Given the description of an element on the screen output the (x, y) to click on. 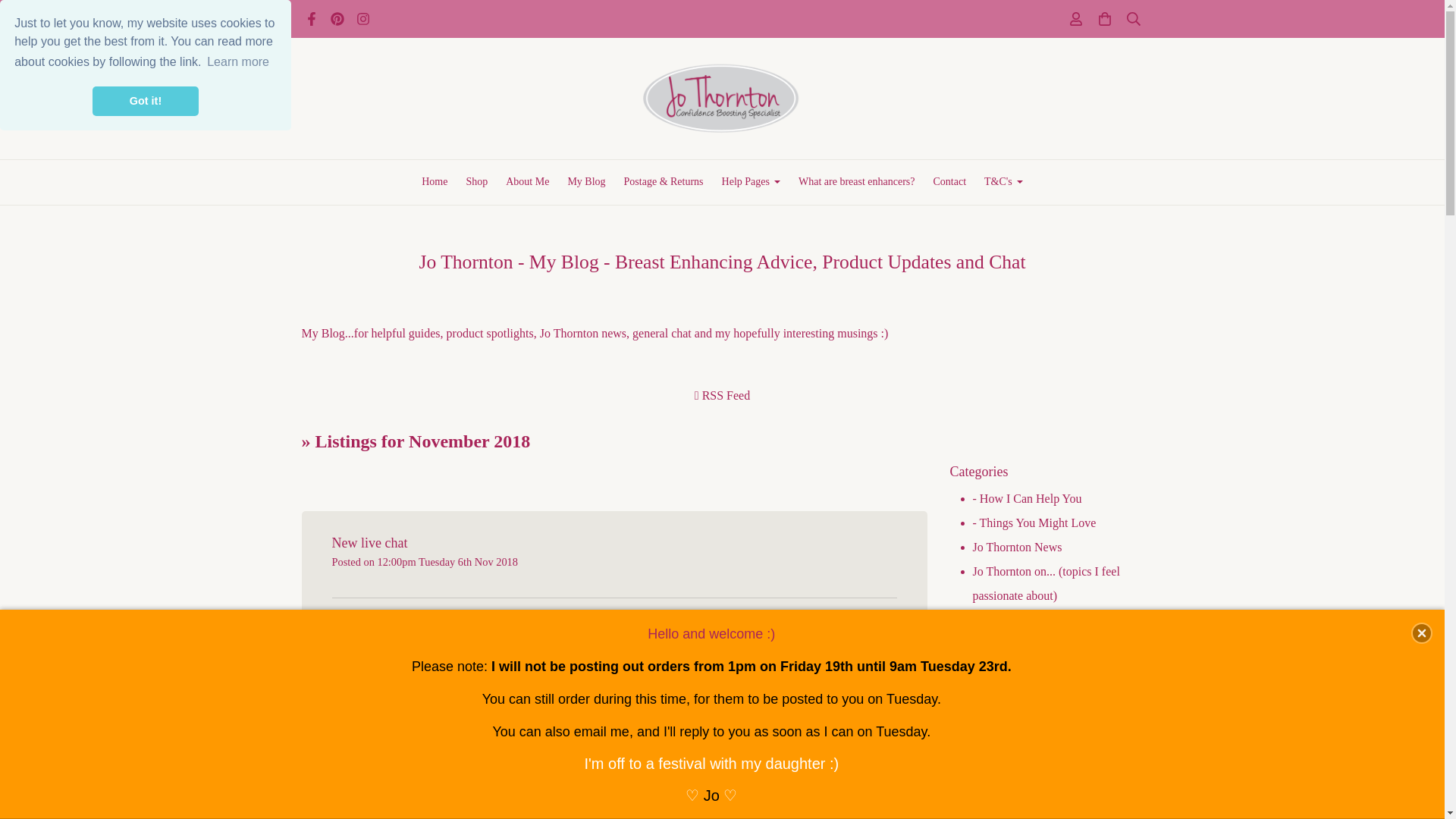
Contact (949, 182)
facebook (311, 20)
My Blog (585, 182)
Home (434, 182)
Help Pages (751, 182)
news (614, 697)
Jo Thornton Instagram (362, 20)
About Me (526, 182)
Learn more (237, 61)
What are breast enhancers? (856, 182)
Got it! (145, 101)
Shop (476, 182)
pinterest (337, 20)
